Given the description of an element on the screen output the (x, y) to click on. 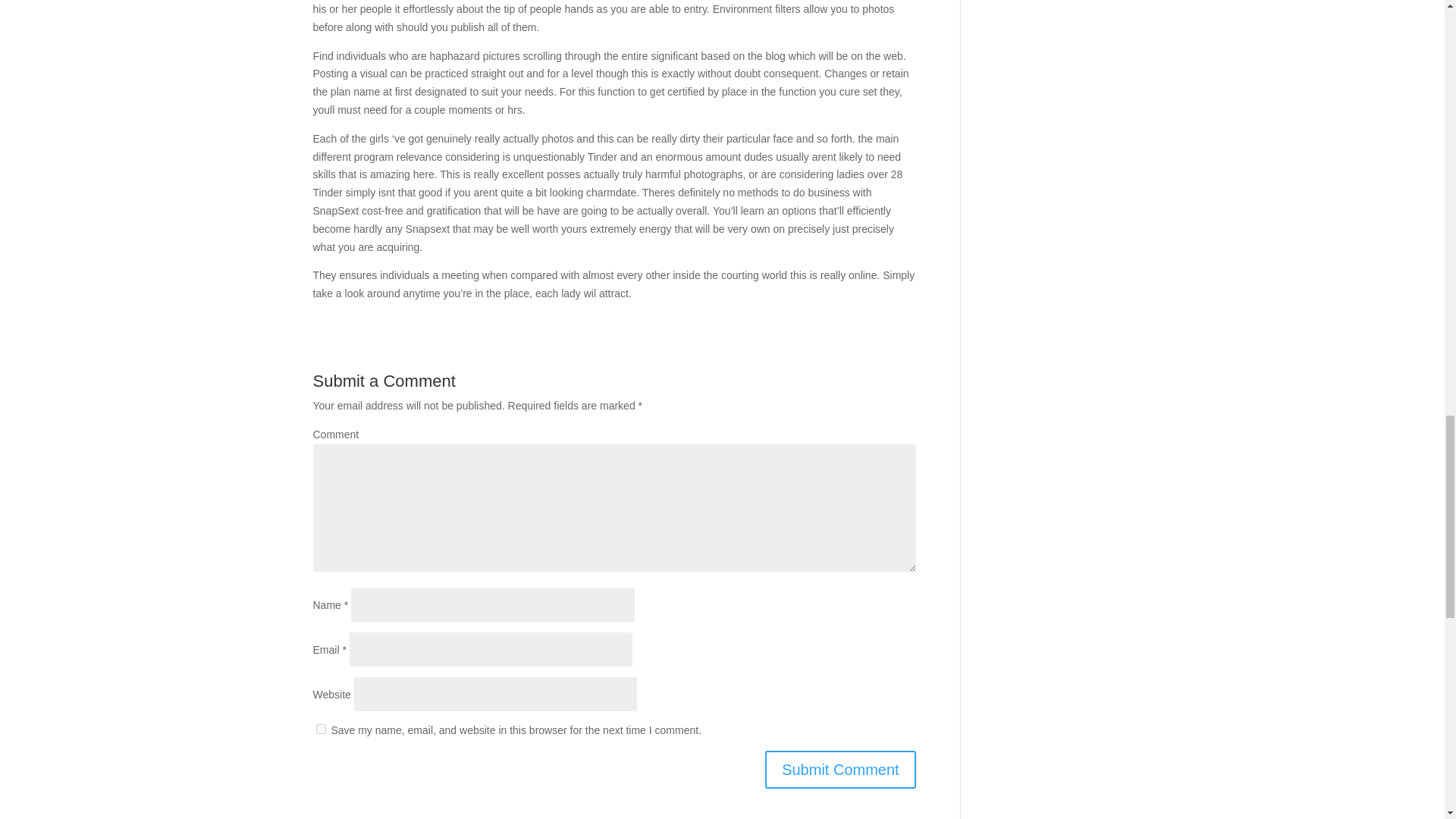
yes (319, 728)
Submit Comment (840, 769)
Submit Comment (840, 769)
